Given the description of an element on the screen output the (x, y) to click on. 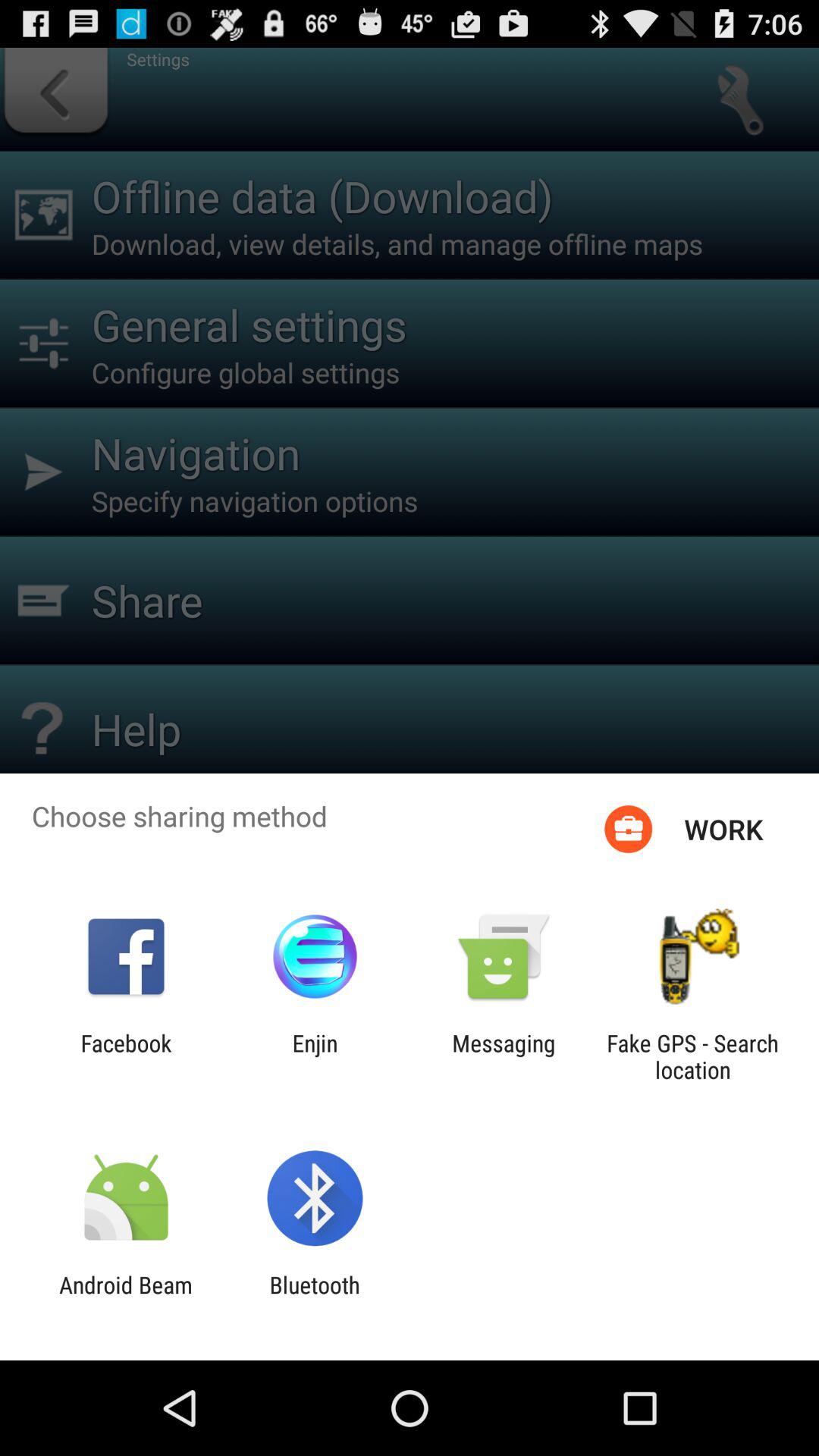
launch the app next to the messaging app (314, 1056)
